Given the description of an element on the screen output the (x, y) to click on. 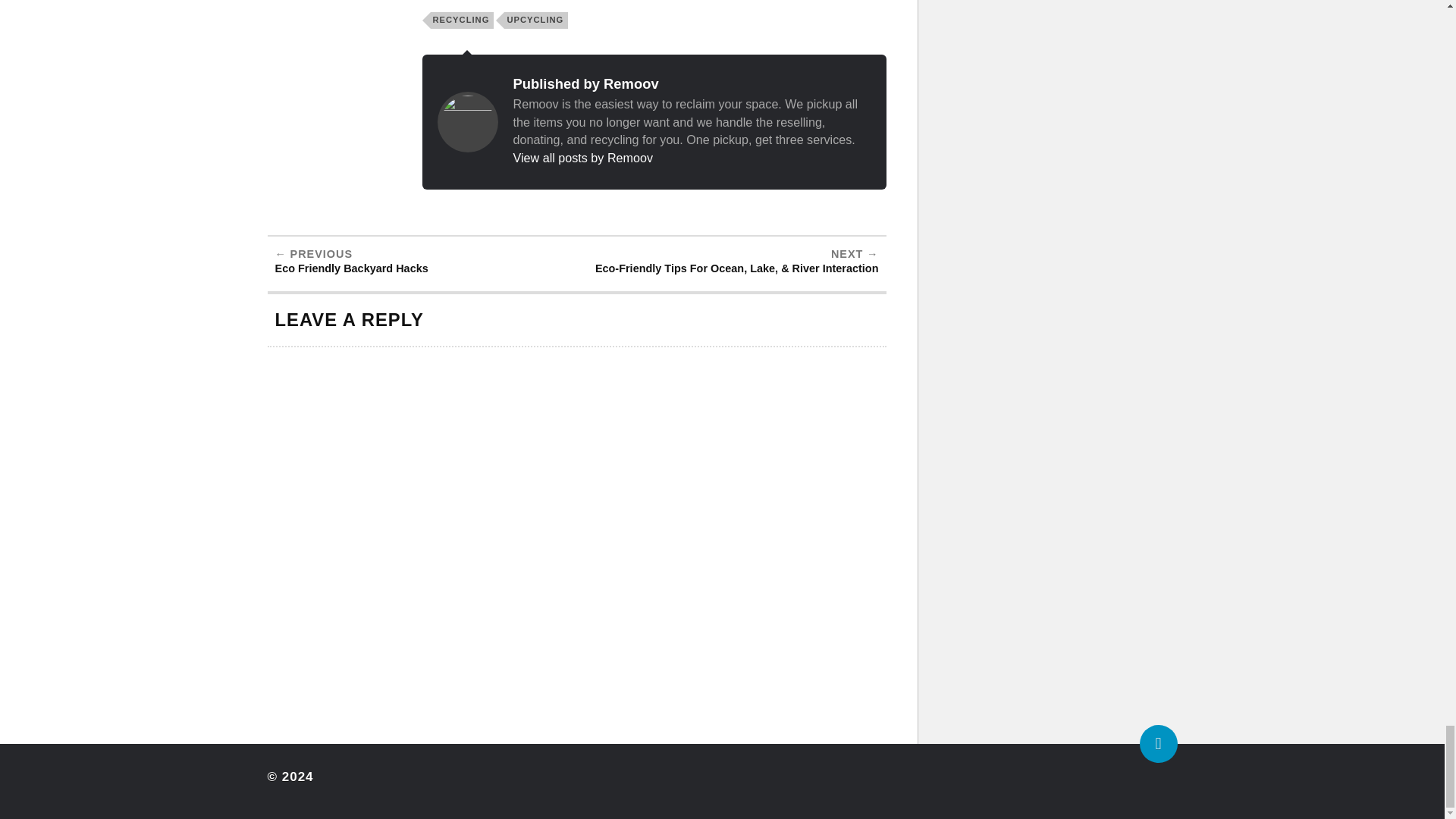
To the top (1157, 743)
